Given the description of an element on the screen output the (x, y) to click on. 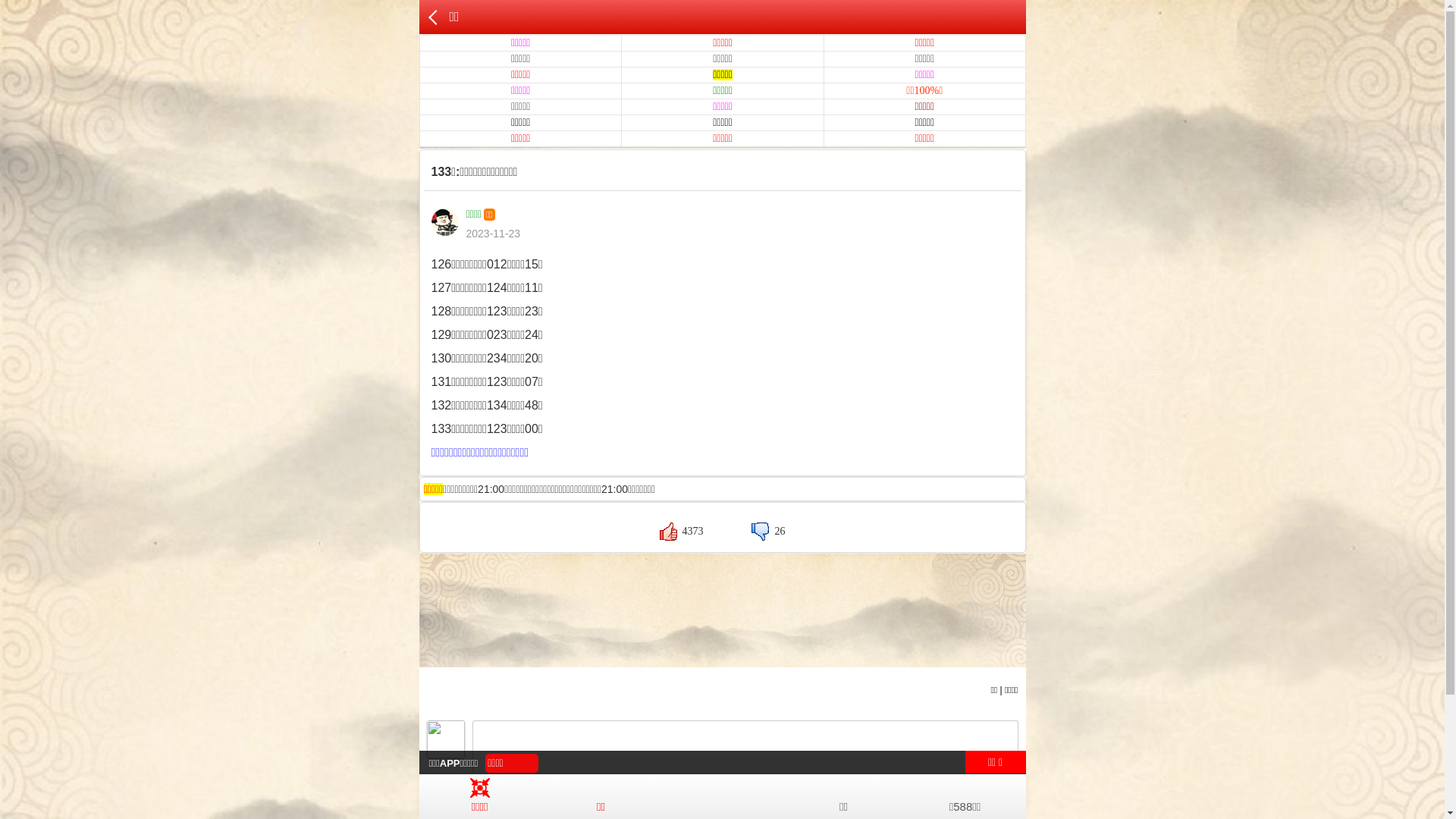
26 Element type: text (767, 530)
4373 Element type: text (681, 530)
